Given the description of an element on the screen output the (x, y) to click on. 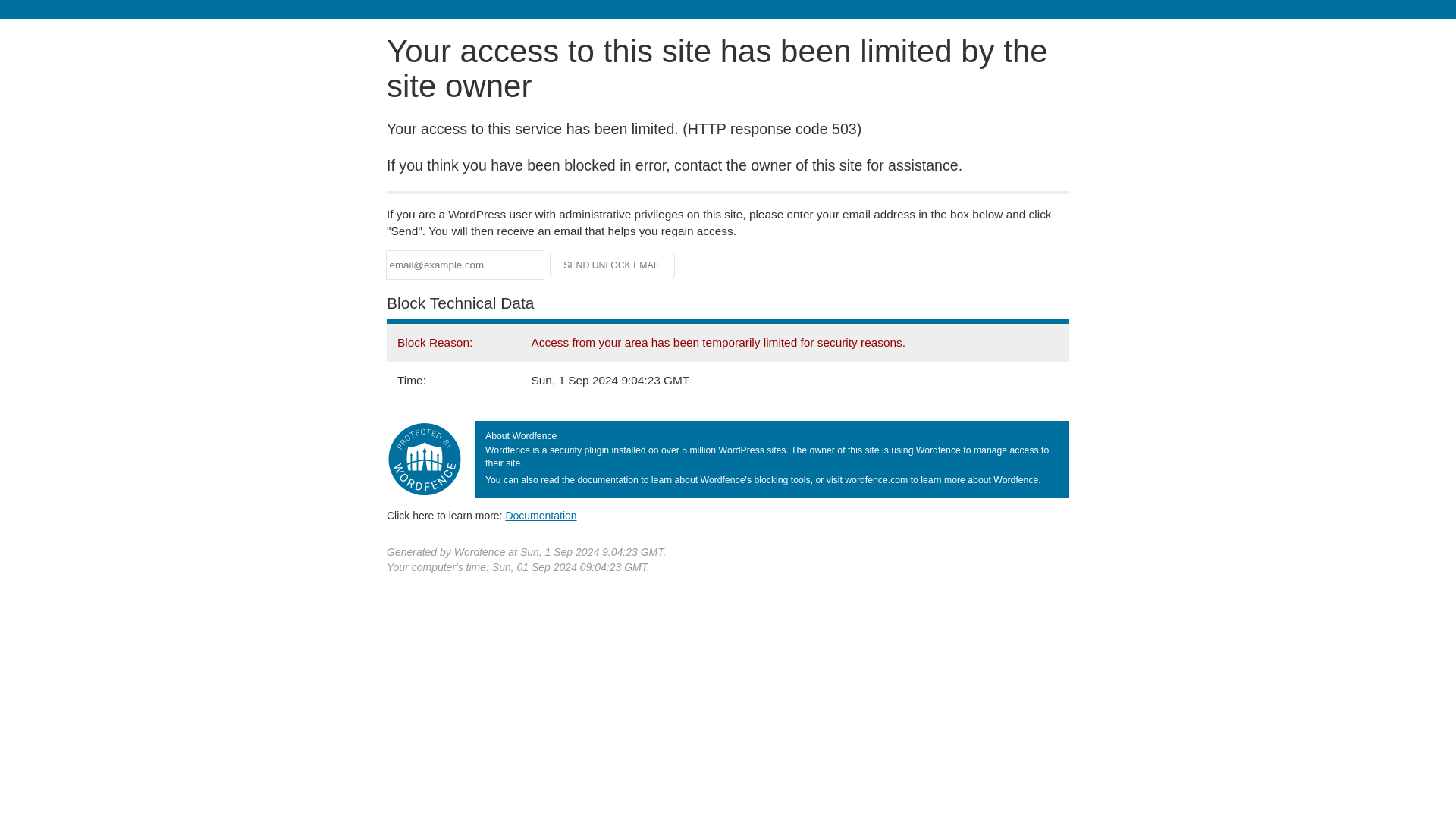
Send Unlock Email (612, 265)
Send Unlock Email (612, 265)
Documentation (540, 515)
